Given the description of an element on the screen output the (x, y) to click on. 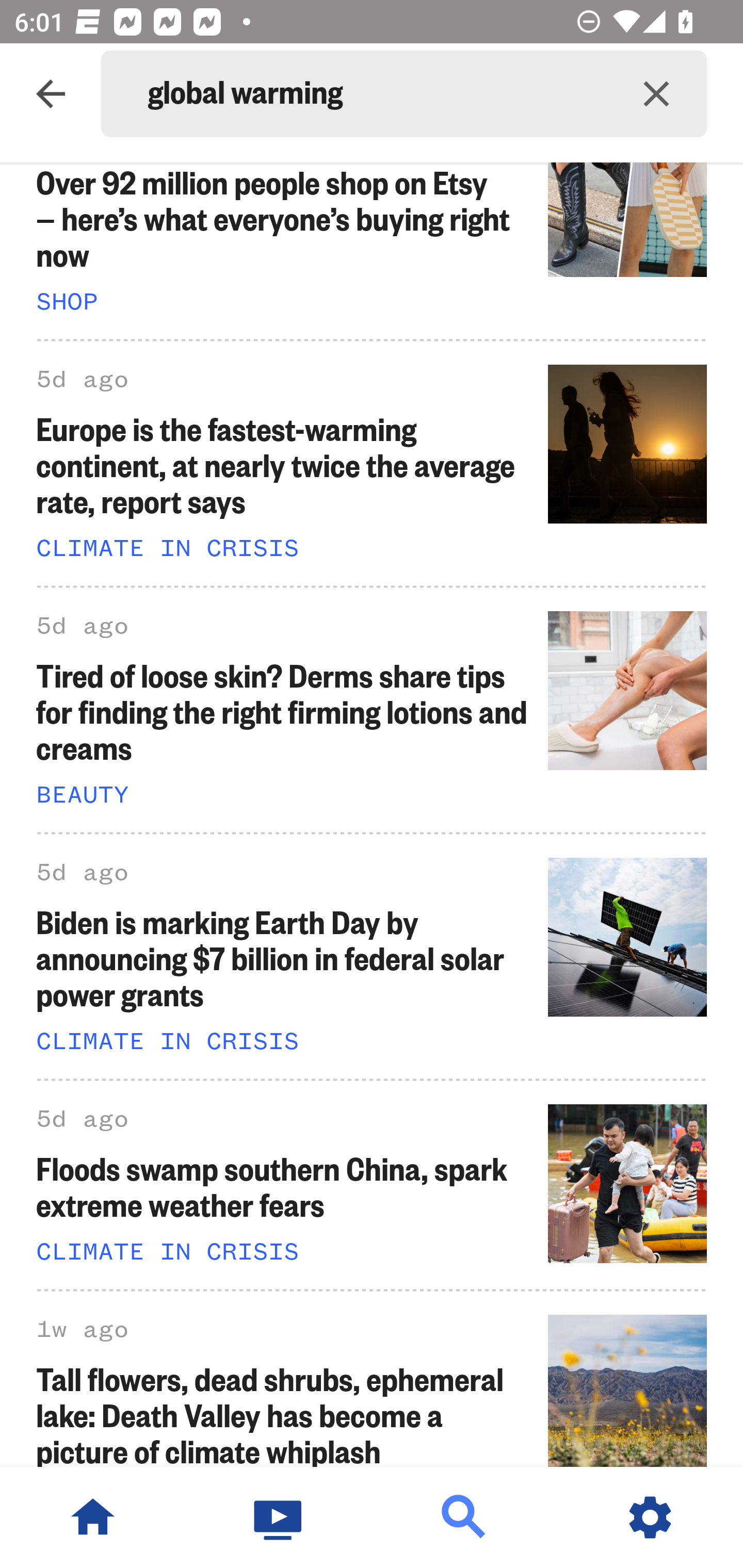
Navigate up (50, 93)
Clear query (656, 93)
global warming (376, 94)
NBC News Home (92, 1517)
Watch (278, 1517)
Settings (650, 1517)
